Given the description of an element on the screen output the (x, y) to click on. 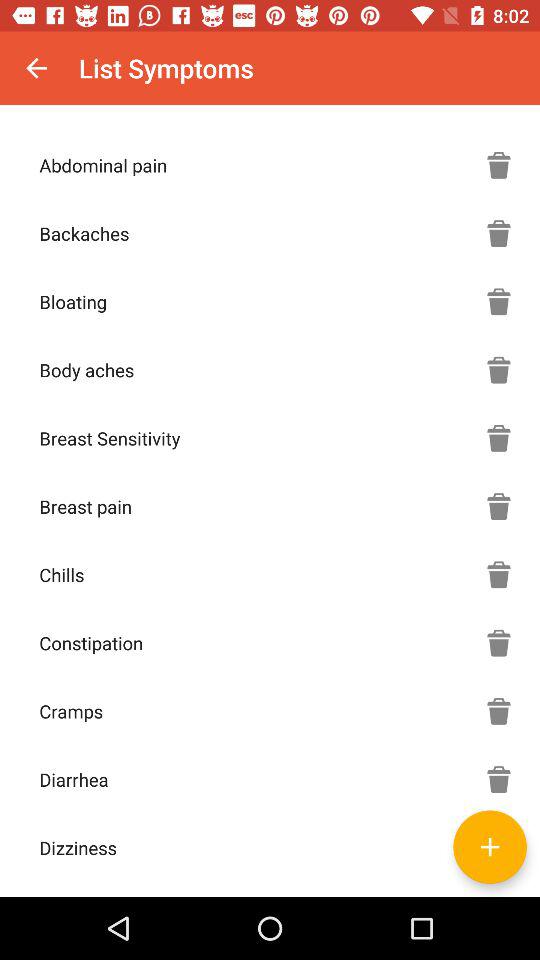
remove symptom (499, 711)
